Given the description of an element on the screen output the (x, y) to click on. 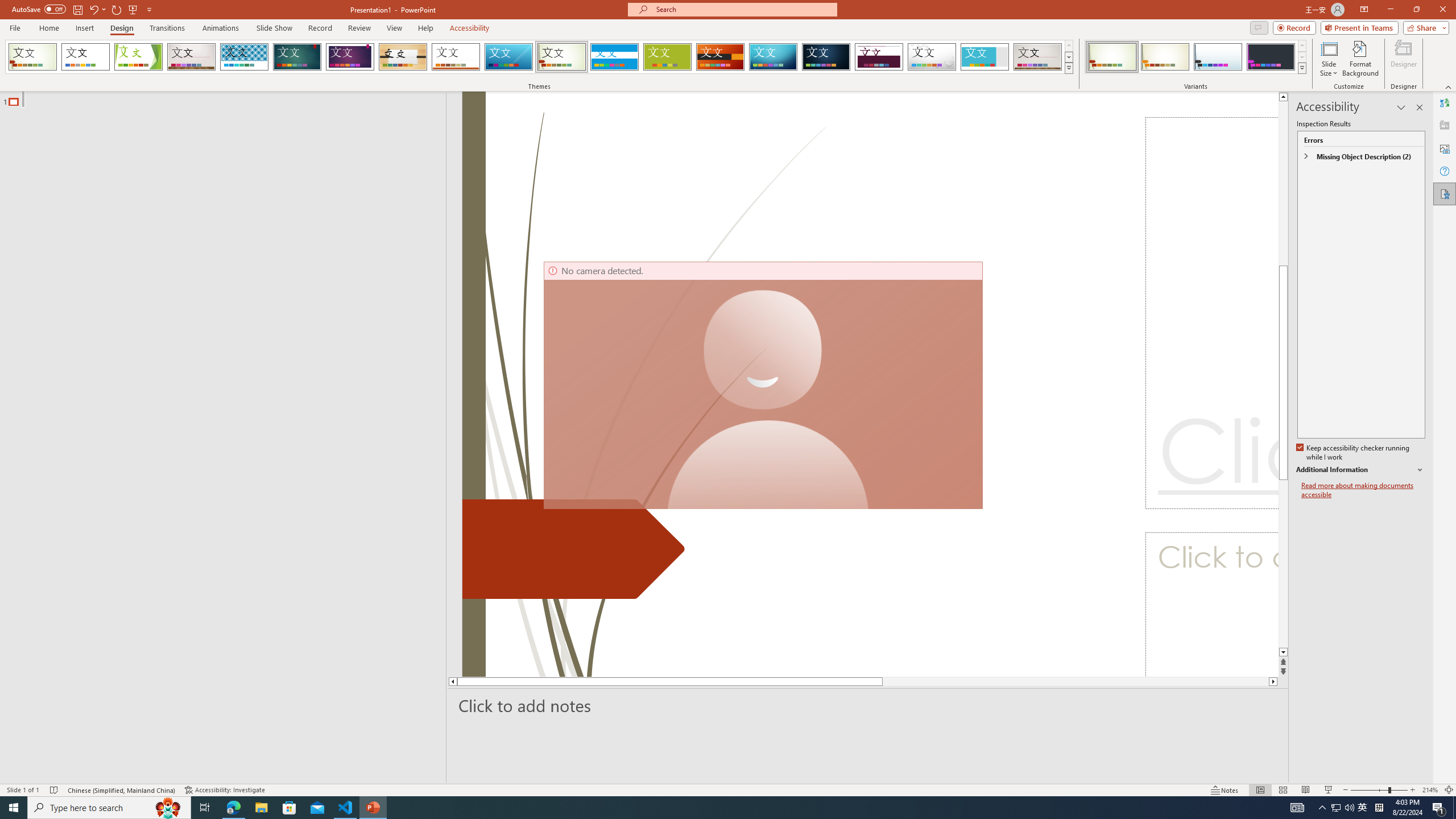
Variants (1301, 67)
Keep accessibility checker running while I work (1353, 452)
Damask (826, 56)
Basis (667, 56)
